Given the description of an element on the screen output the (x, y) to click on. 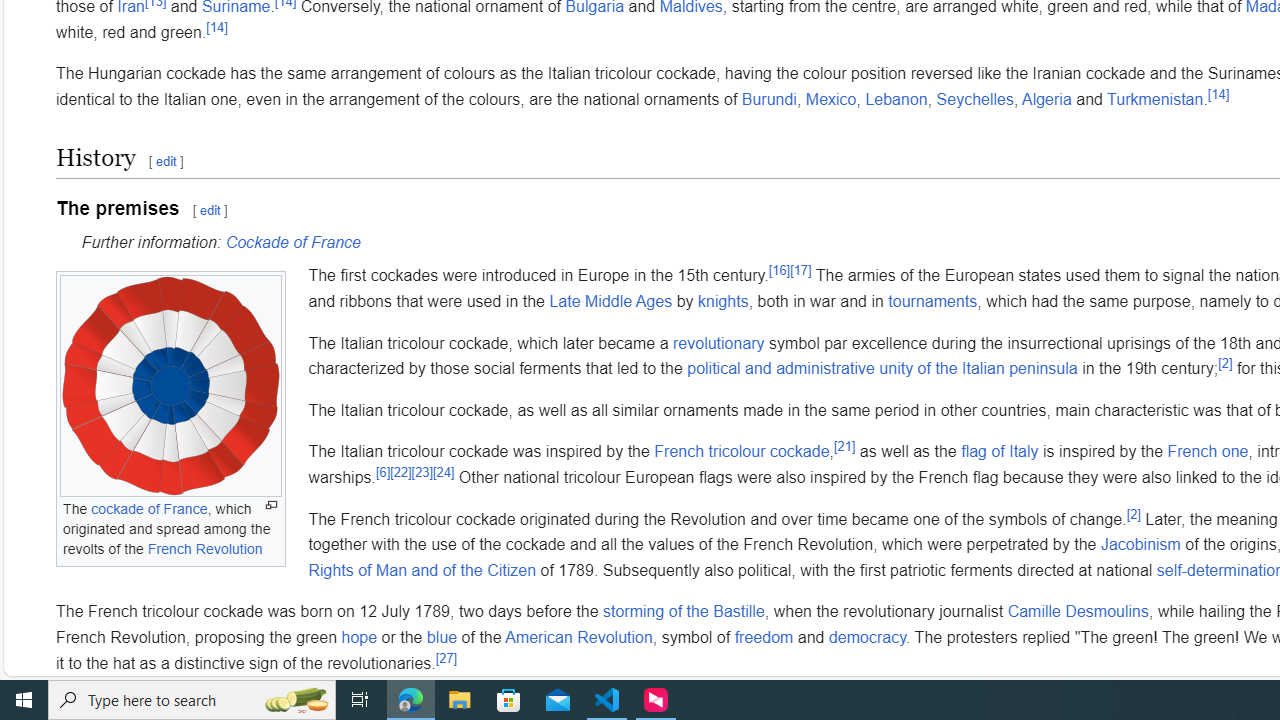
blue (442, 636)
French one (1208, 451)
[21] (844, 447)
tournaments (932, 301)
political and administrative unity of the Italian peninsula (882, 369)
storming of the Bastille (683, 611)
Turkmenistan (1155, 99)
[16] (779, 270)
